Given the description of an element on the screen output the (x, y) to click on. 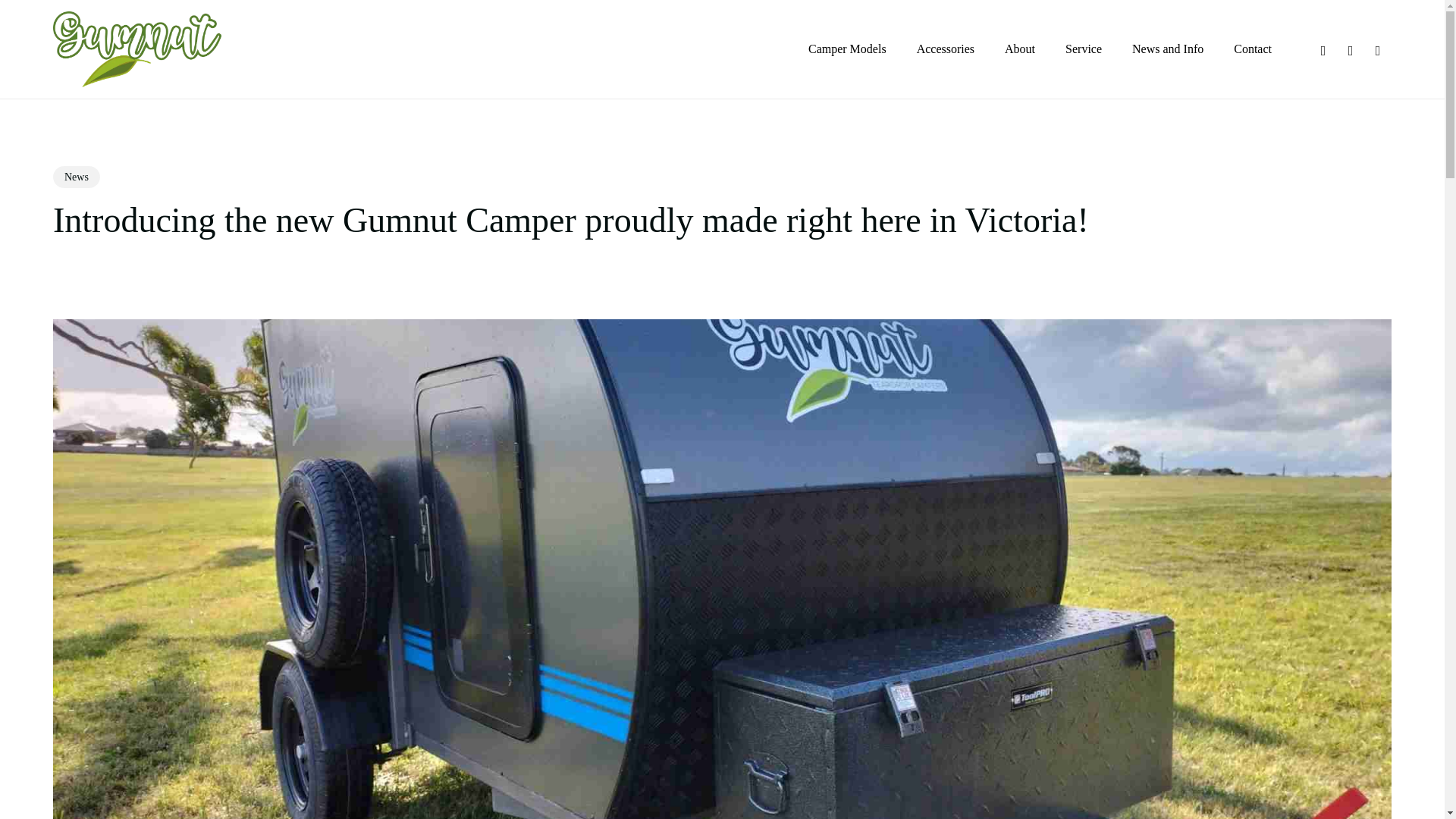
Service (1083, 49)
News (76, 177)
youtube (1350, 48)
Camper Models (847, 49)
Accessories (945, 49)
instagram (1377, 48)
About (1019, 49)
facebook (1322, 48)
News and Info (1168, 49)
Contact (1252, 49)
